Given the description of an element on the screen output the (x, y) to click on. 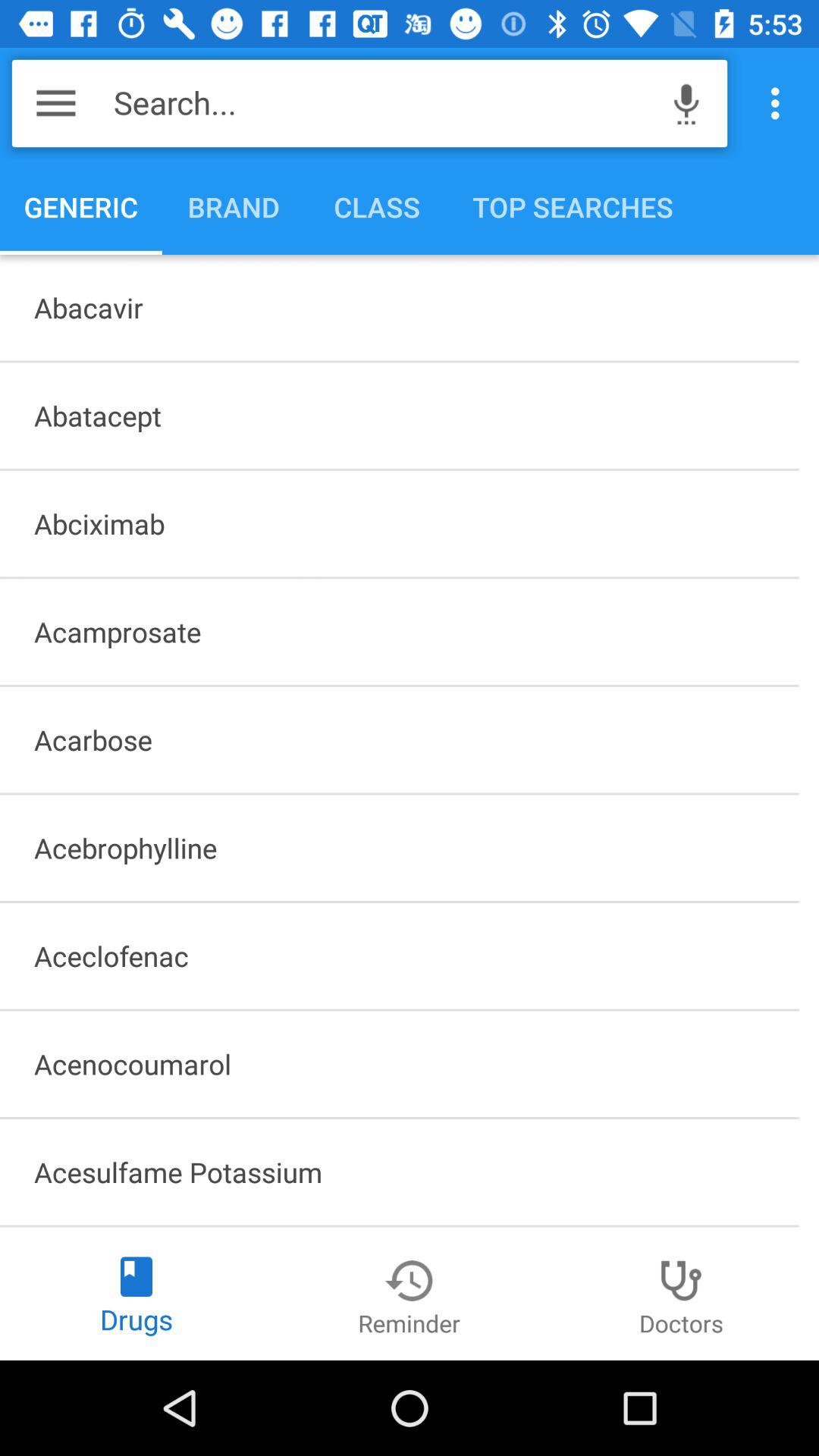
select item above acesulfame potassium icon (399, 1063)
